Given the description of an element on the screen output the (x, y) to click on. 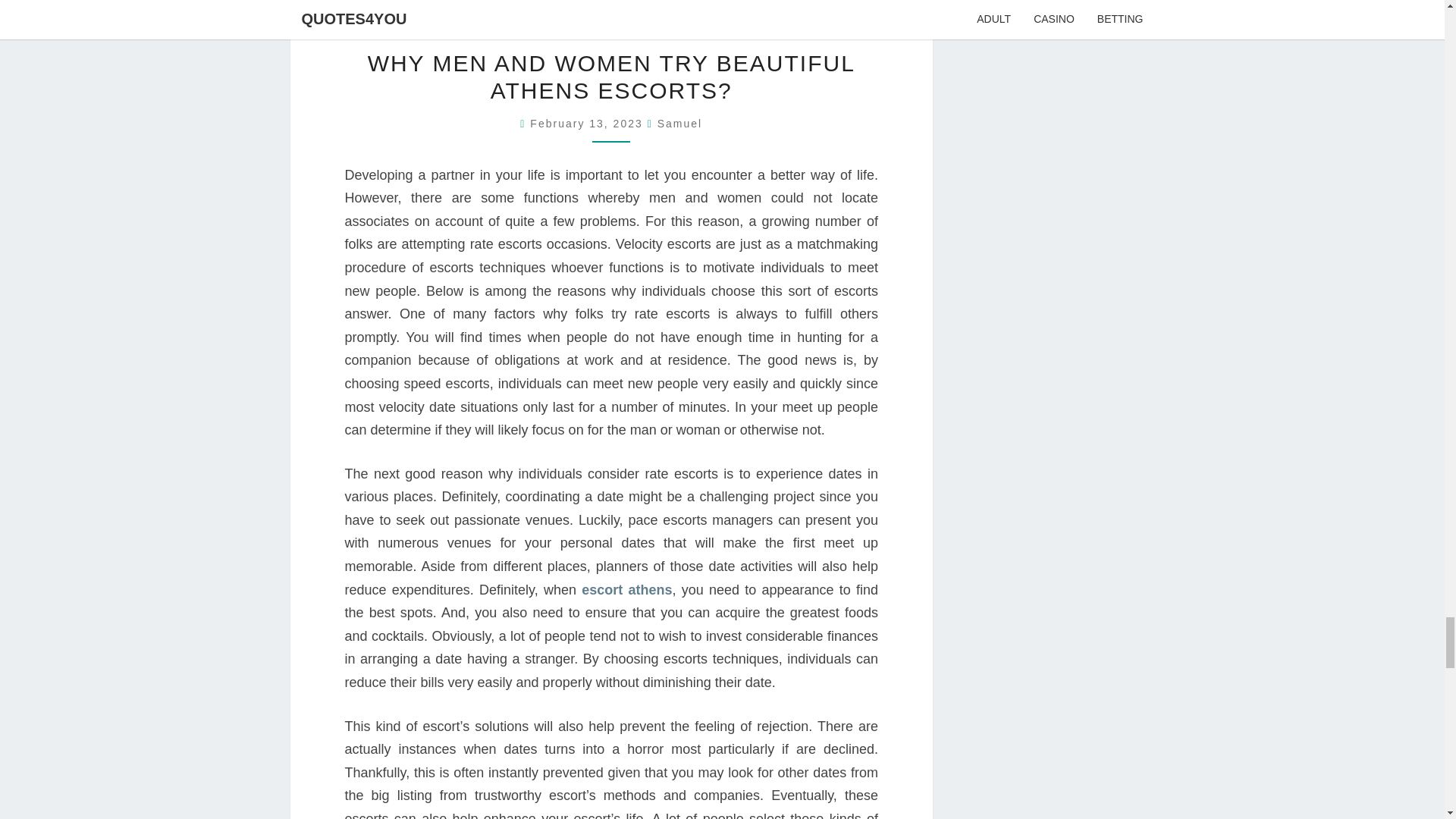
7:29 am (587, 123)
February 13, 2023 (587, 123)
WHY MEN AND WOMEN TRY BEAUTIFUL ATHENS ESCORTS? (612, 76)
escort athens (625, 589)
View all posts by Samuel (679, 123)
Samuel (679, 123)
